Given the description of an element on the screen output the (x, y) to click on. 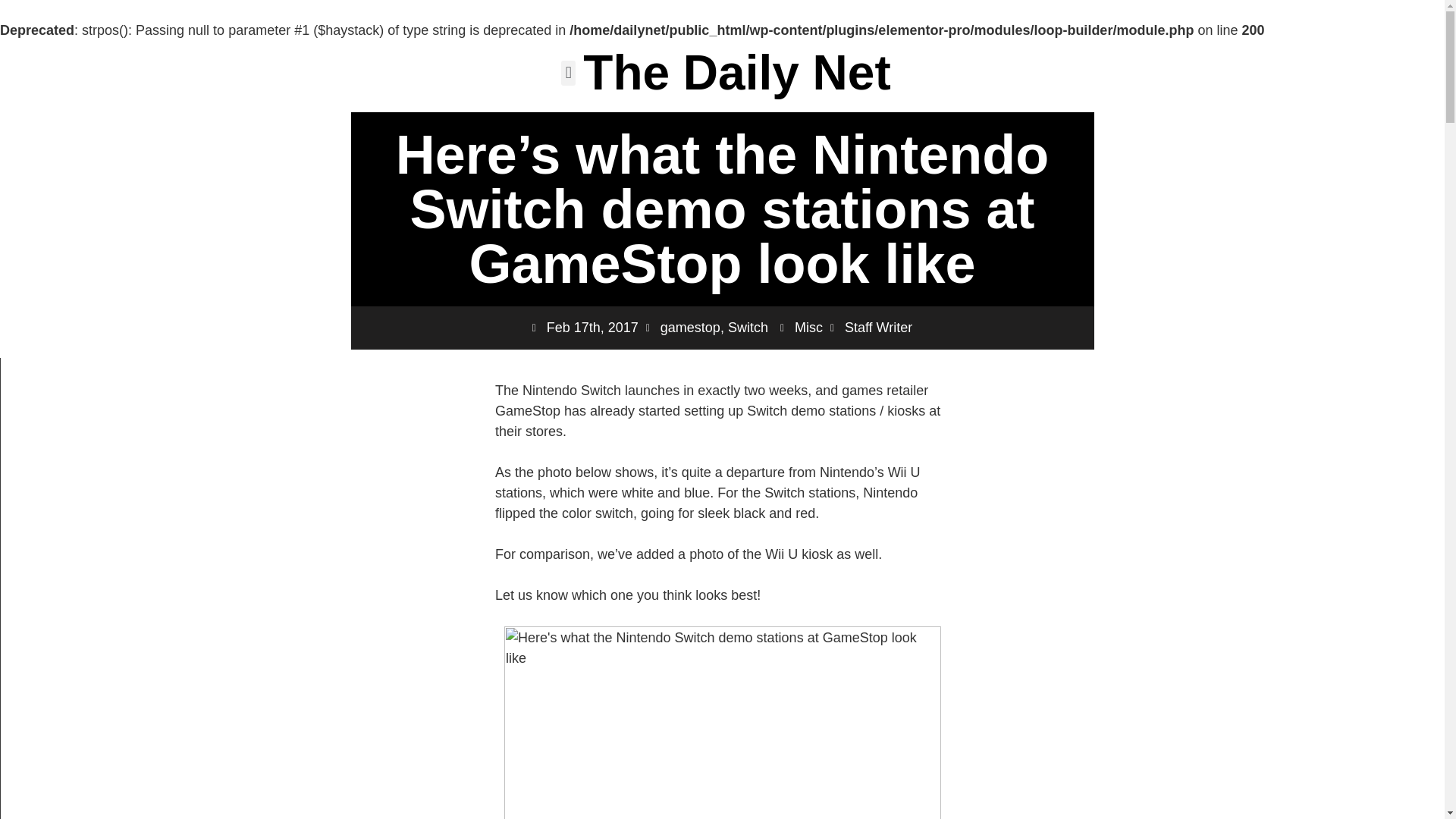
The Daily Net (736, 72)
Misc (808, 327)
Staff Writer (870, 327)
gamestop (690, 327)
Switch (748, 327)
